Given the description of an element on the screen output the (x, y) to click on. 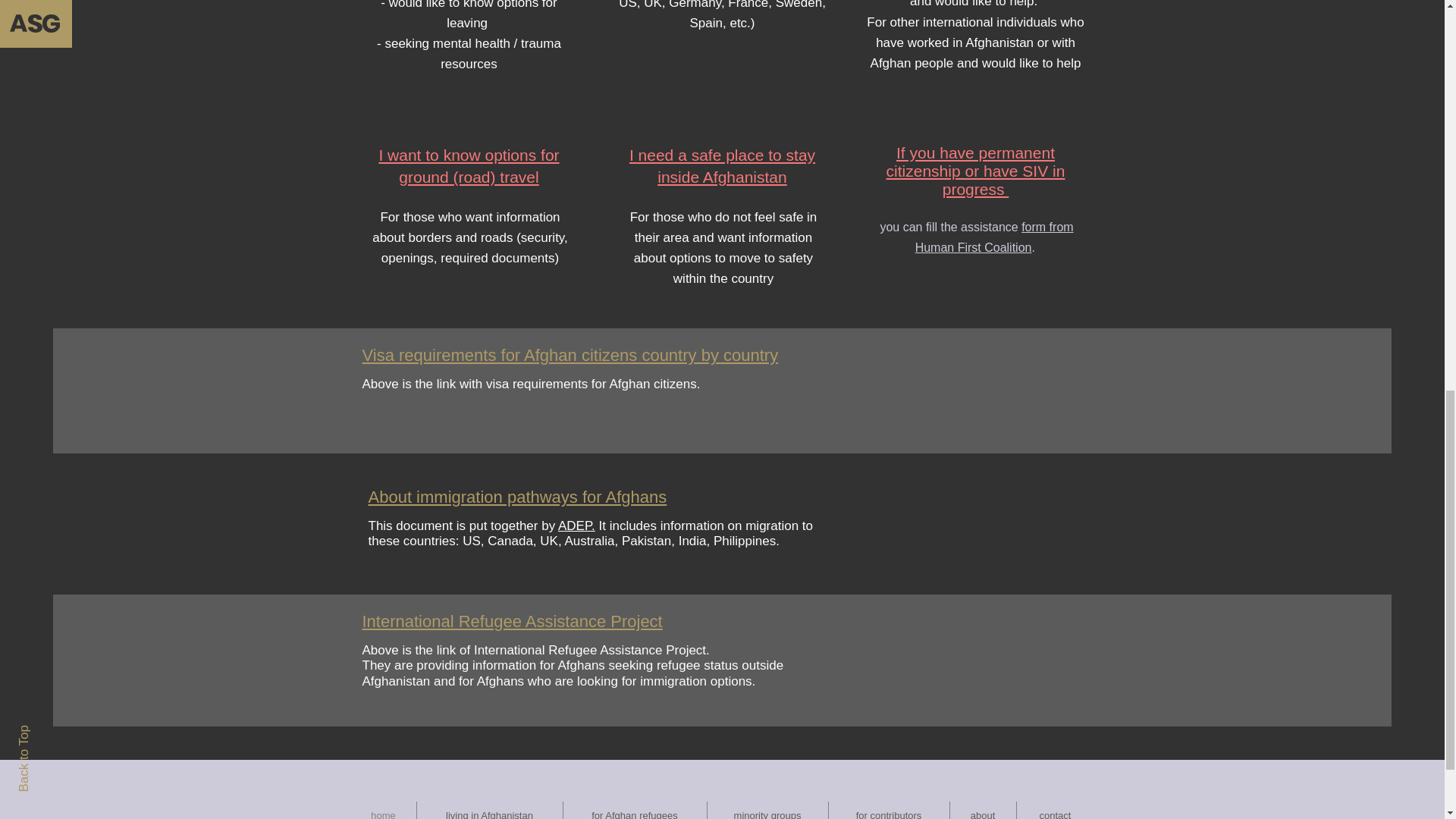
Visa requirements for Afghan citizens country by country (570, 354)
International Refugee Assistance Project (512, 620)
If you have permanent citizenship or have SIV in progress  (975, 171)
form from Human First Coalition (994, 236)
I need a safe place to stay inside Afghanistan (721, 165)
ADEP (574, 525)
About immigration pathways for Afghans (517, 496)
